Given the description of an element on the screen output the (x, y) to click on. 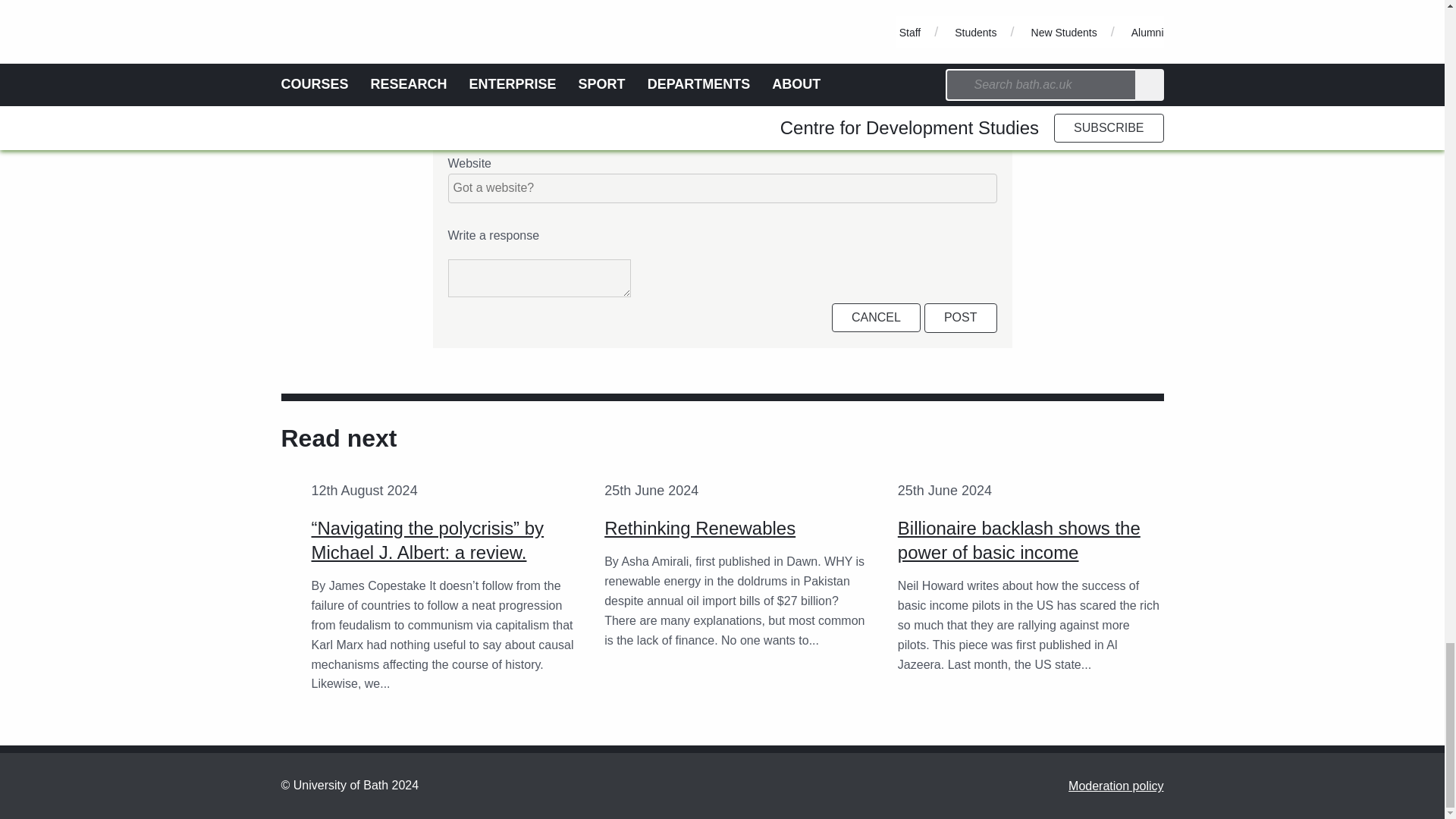
CANCEL (875, 317)
Post (960, 317)
Billionaire backlash shows the power of basic income (1019, 539)
Post (960, 317)
Rethinking Renewables (699, 527)
